Given the description of an element on the screen output the (x, y) to click on. 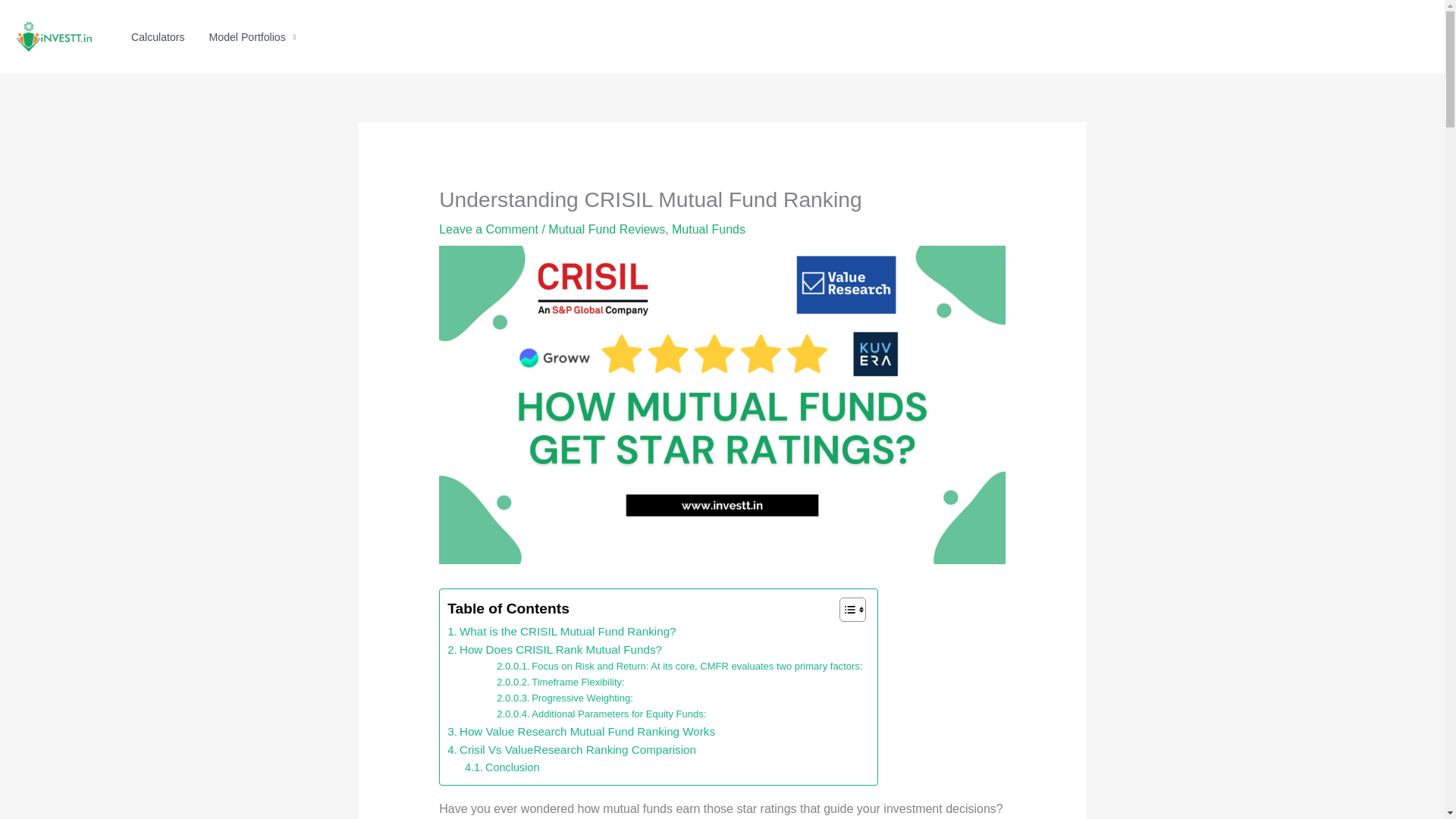
What is the CRISIL Mutual Fund Ranking? (560, 631)
Additional Parameters for Equity Funds: (601, 714)
How Does CRISIL Rank Mutual Funds? (554, 649)
Crisil Vs ValueResearch Ranking Comparision (570, 750)
How Value Research Mutual Fund Ranking Works (580, 731)
Crisil Vs ValueResearch Ranking Comparision (570, 750)
Timeframe Flexibility: (560, 682)
Progressive Weighting: (564, 698)
What is the CRISIL Mutual Fund Ranking? (560, 631)
Timeframe Flexibility: (560, 682)
